Given the description of an element on the screen output the (x, y) to click on. 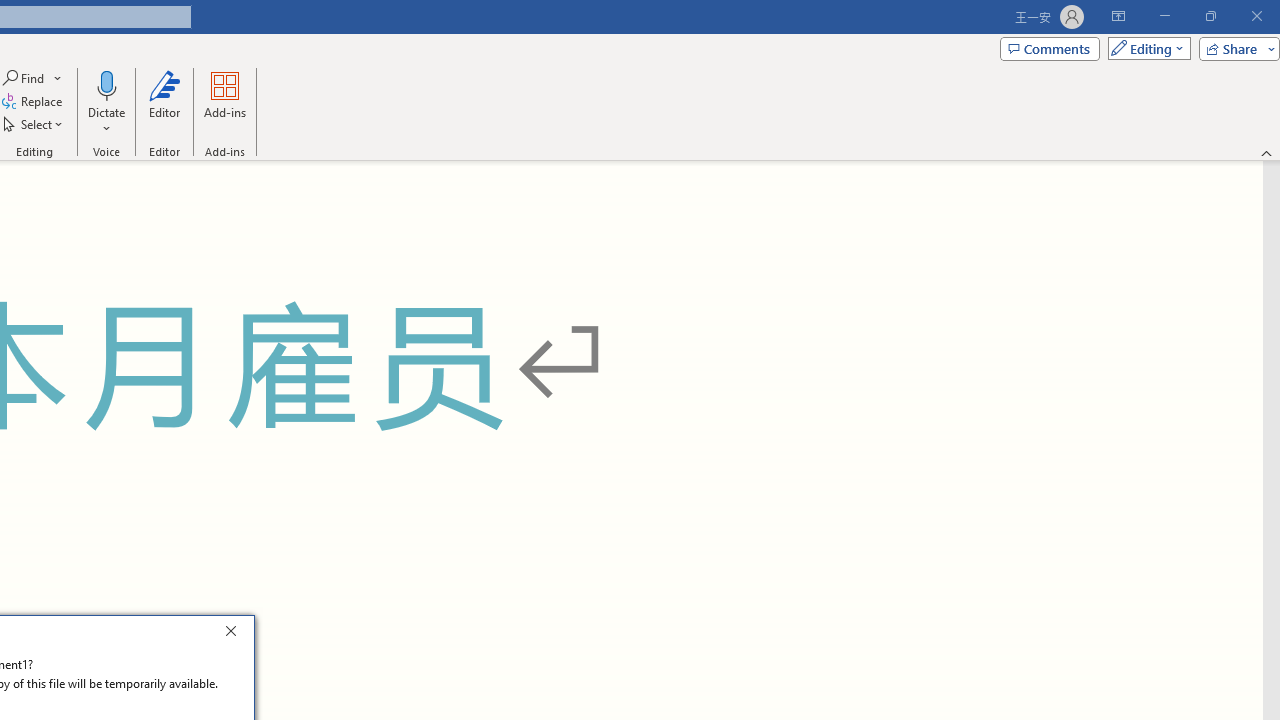
Editing (1144, 47)
Editor (164, 102)
